Given the description of an element on the screen output the (x, y) to click on. 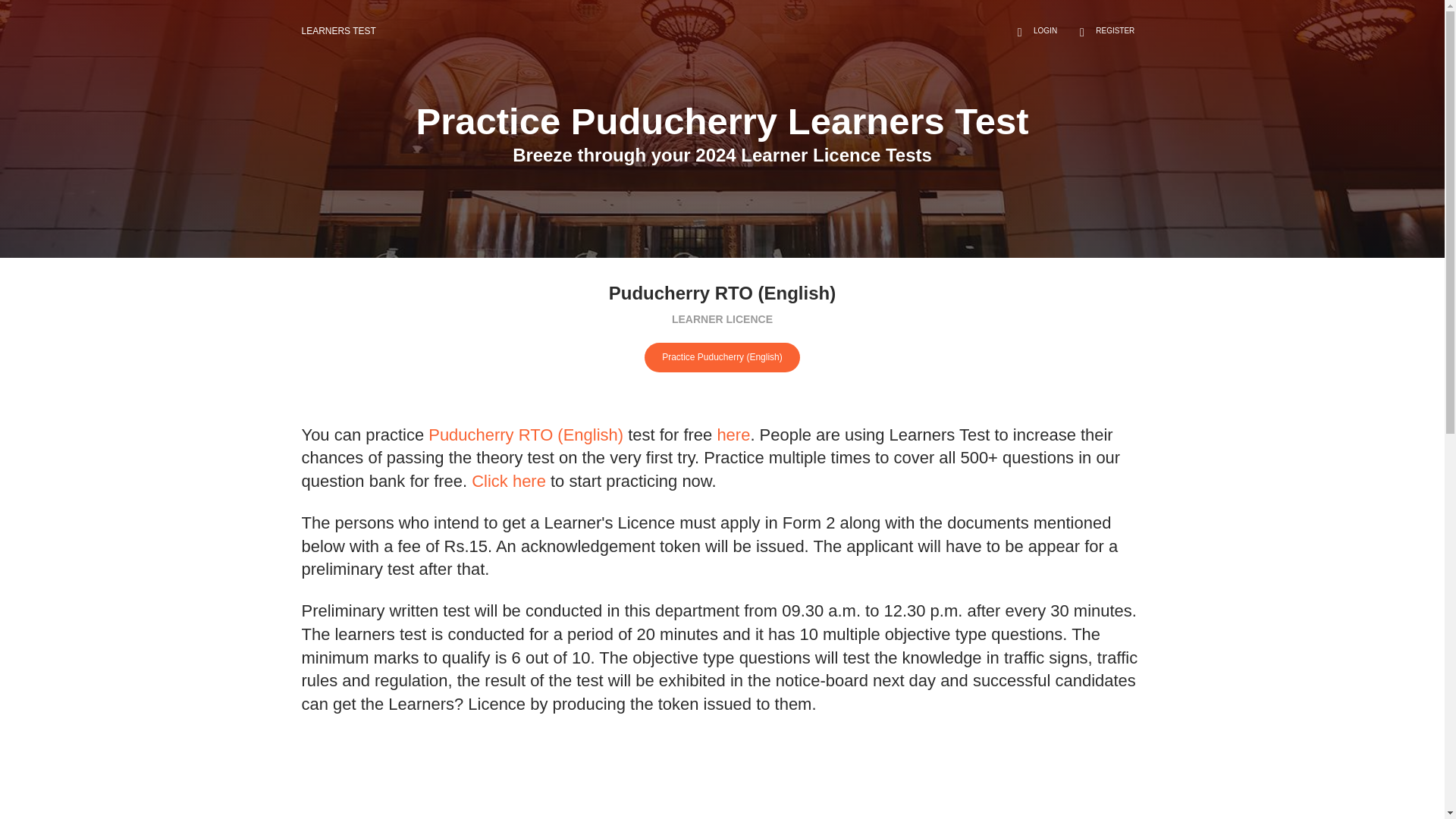
Advertisement (721, 776)
LOGIN (1034, 30)
LEARNERS TEST (338, 30)
here (732, 434)
REGISTER (1103, 30)
Click here (508, 480)
